Given the description of an element on the screen output the (x, y) to click on. 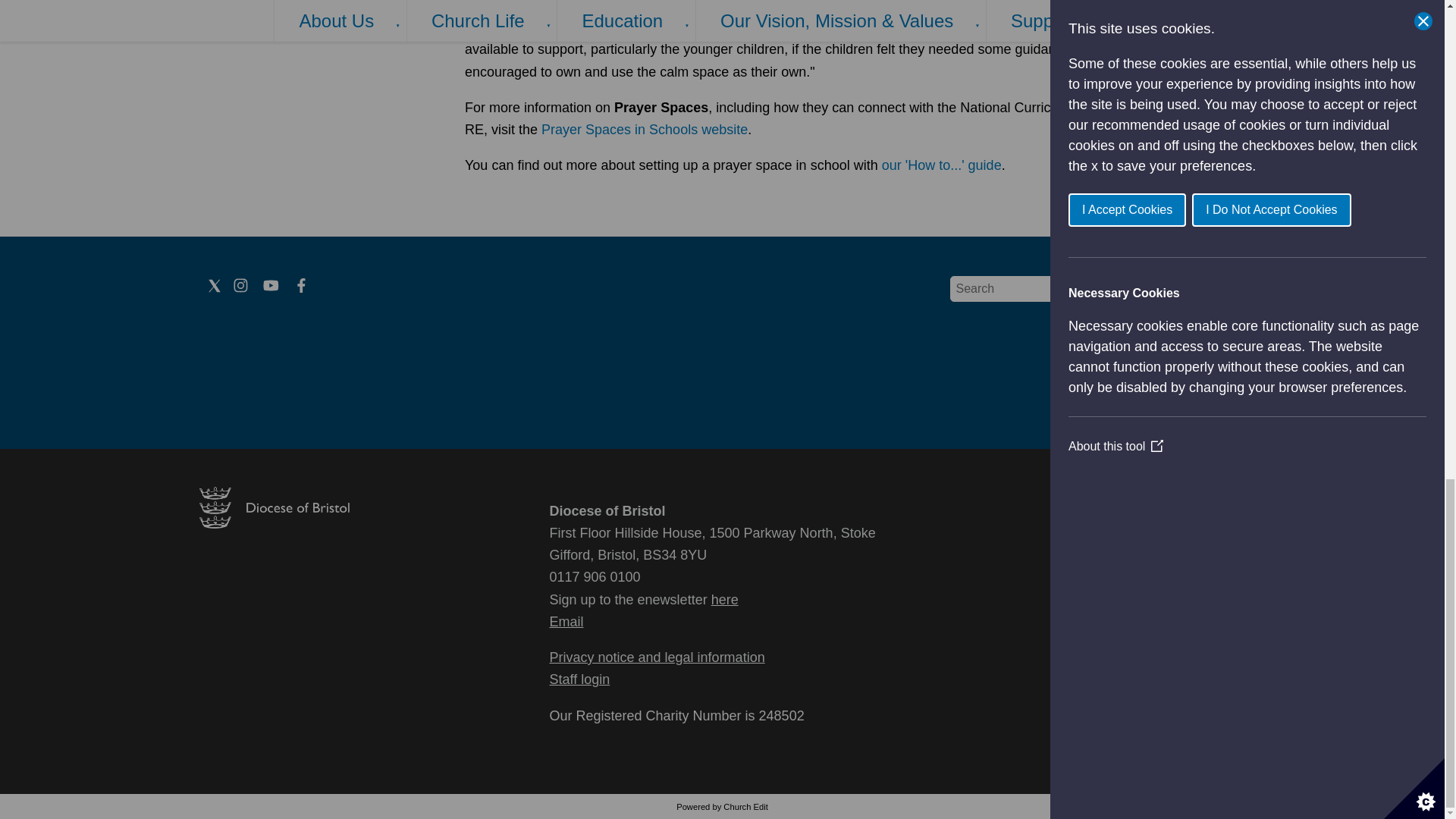
Diocese of Bristol Logo (273, 523)
